Given the description of an element on the screen output the (x, y) to click on. 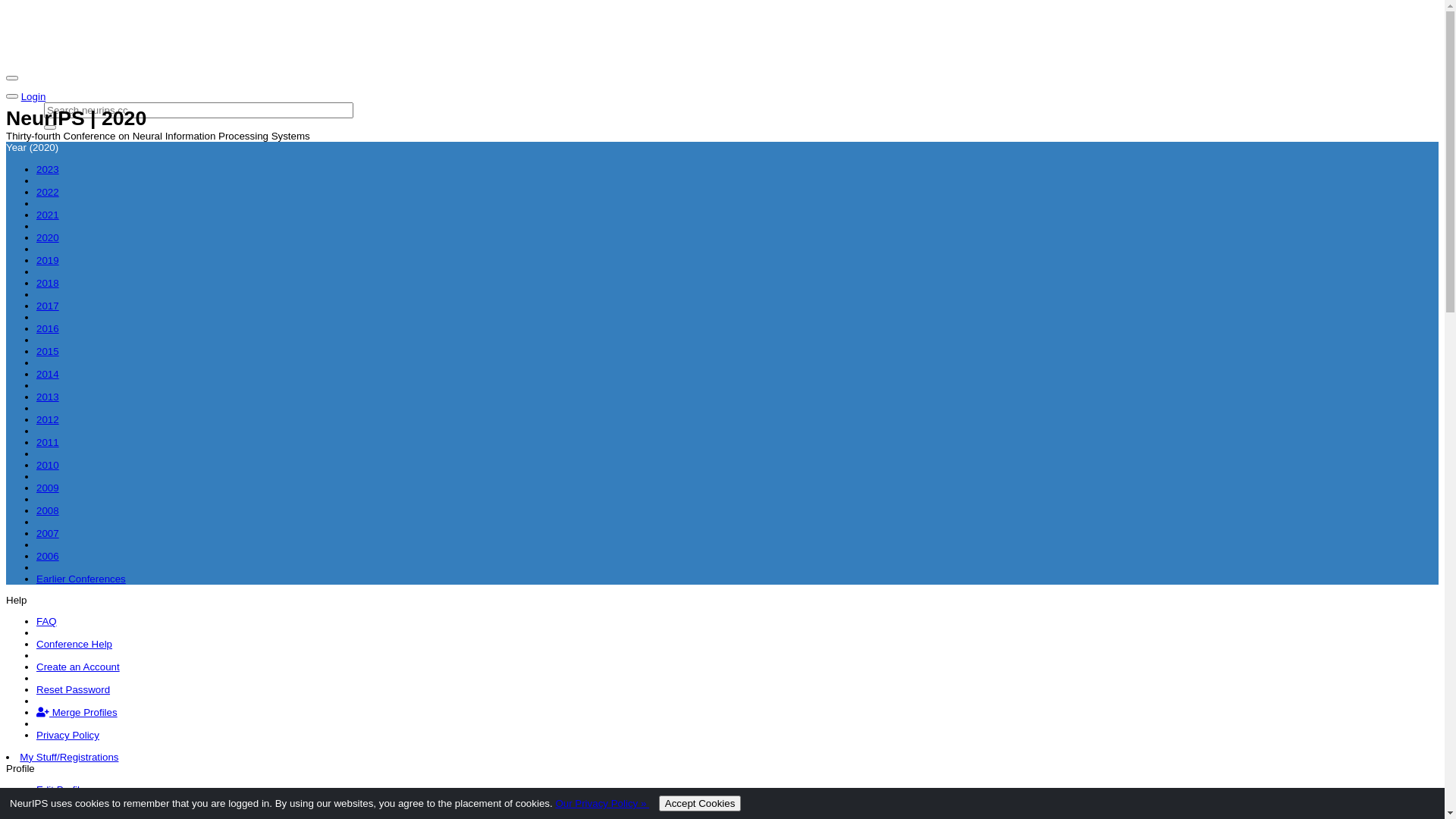
Toggle navigation Element type: text (12, 77)
Privacy Policy Element type: text (67, 734)
2015 Element type: text (47, 351)
FAQ Element type: text (46, 621)
Toggle navigation Element type: text (12, 96)
Conference Help Element type: text (74, 643)
My Stuff/Registrations Element type: text (68, 756)
2013 Element type: text (47, 396)
Login Element type: text (33, 96)
Edit Profile Element type: text (60, 789)
2019 Element type: text (47, 260)
2022 Element type: text (47, 191)
2017 Element type: text (47, 305)
2011 Element type: text (47, 442)
2014 Element type: text (47, 373)
2010 Element type: text (47, 464)
2023 Element type: text (47, 169)
Accept Cookies Element type: text (699, 803)
2007 Element type: text (47, 533)
Earlier Conferences Element type: text (80, 578)
2021 Element type: text (47, 214)
Create an Account Element type: text (77, 666)
Change Password Element type: text (77, 812)
Merge Profiles Element type: text (76, 712)
2009 Element type: text (47, 487)
2006 Element type: text (47, 555)
Reset Password Element type: text (72, 689)
2020 Element type: text (47, 237)
2012 Element type: text (47, 419)
2018 Element type: text (47, 282)
2008 Element type: text (47, 510)
2016 Element type: text (47, 328)
